Given the description of an element on the screen output the (x, y) to click on. 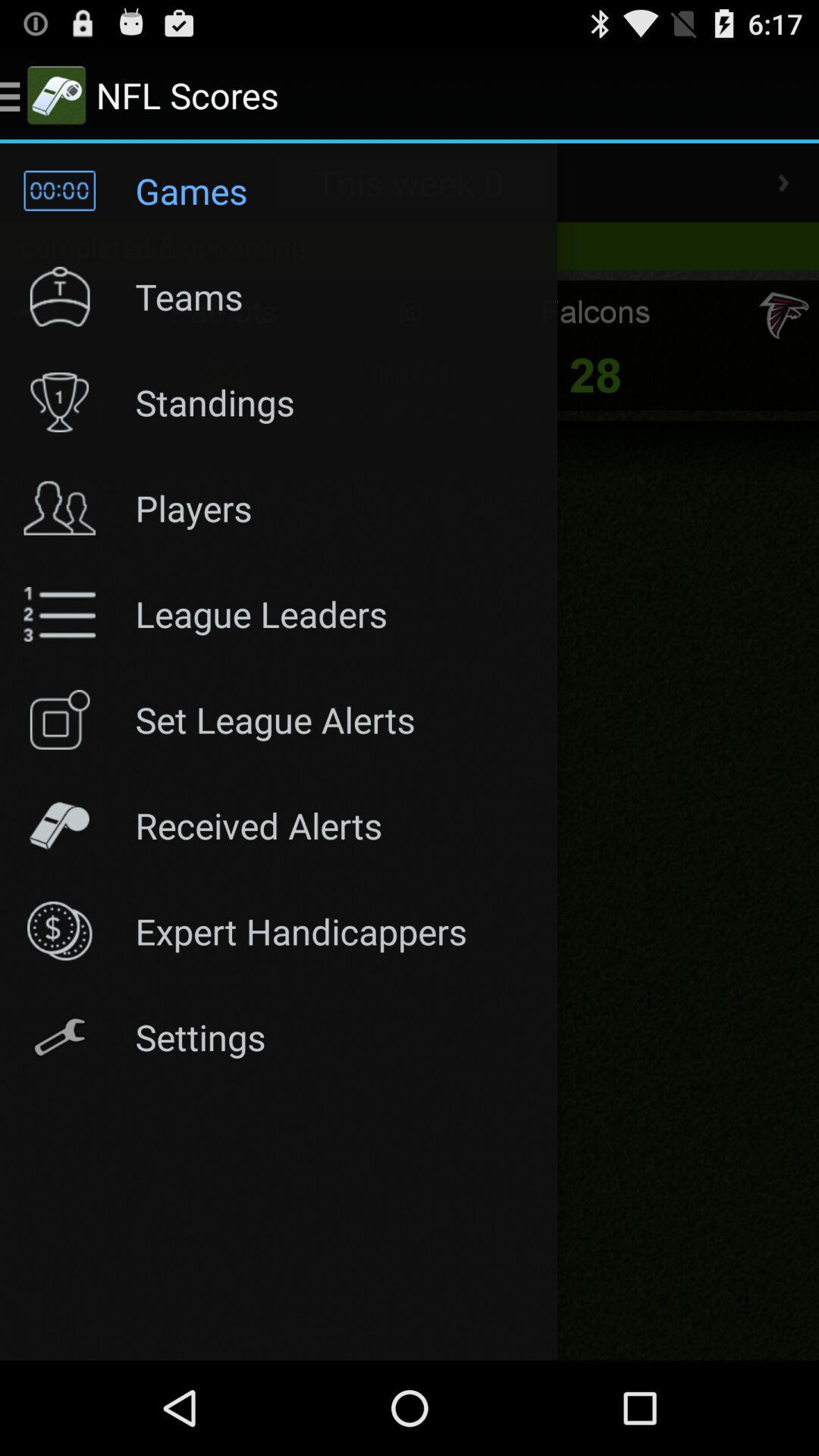
go forward (783, 182)
